Given the description of an element on the screen output the (x, y) to click on. 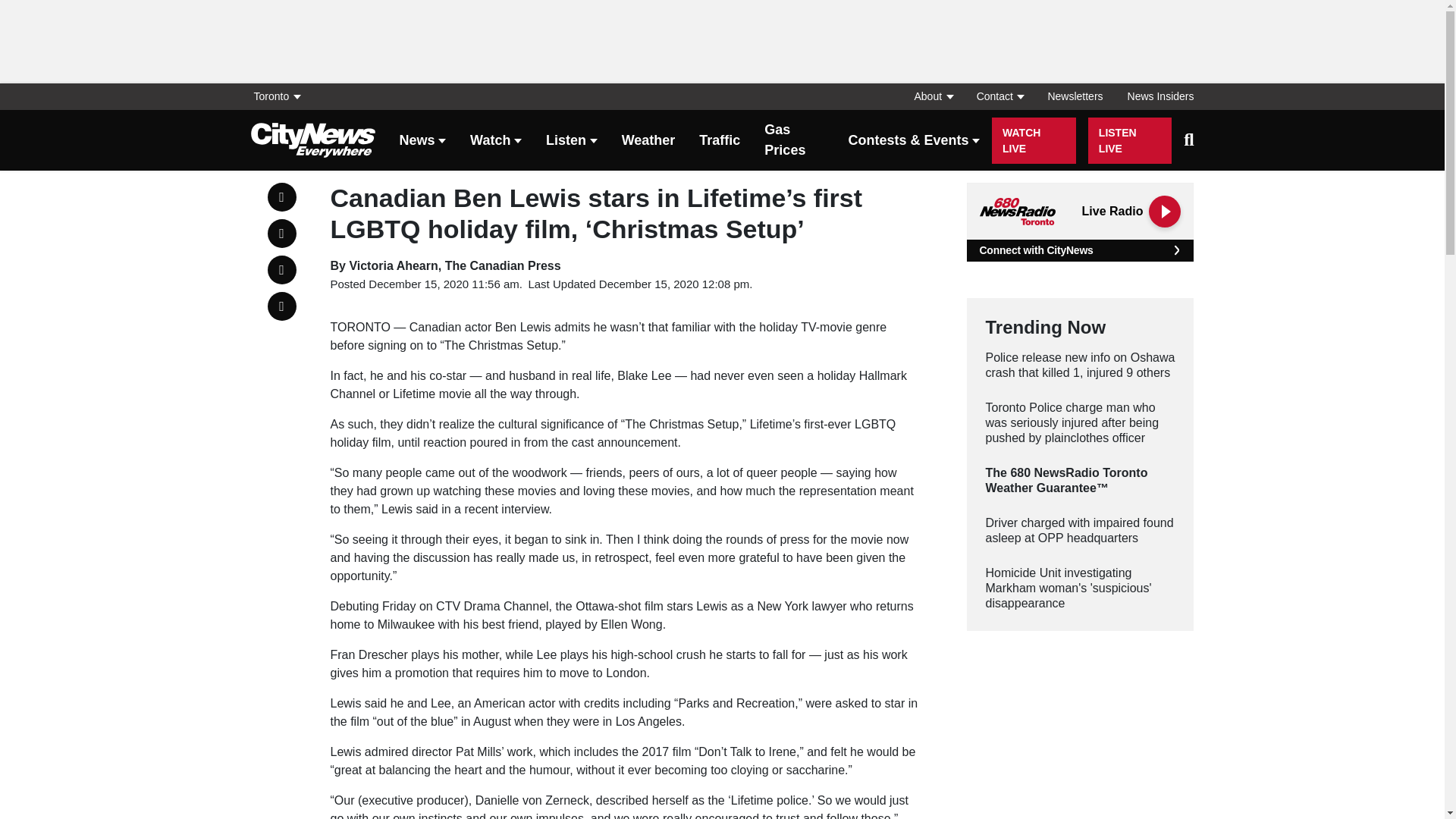
Watch (495, 140)
Toronto (280, 96)
Newsletters (1075, 96)
About (932, 96)
Contact (999, 96)
News (421, 140)
News Insiders (1154, 96)
